Given the description of an element on the screen output the (x, y) to click on. 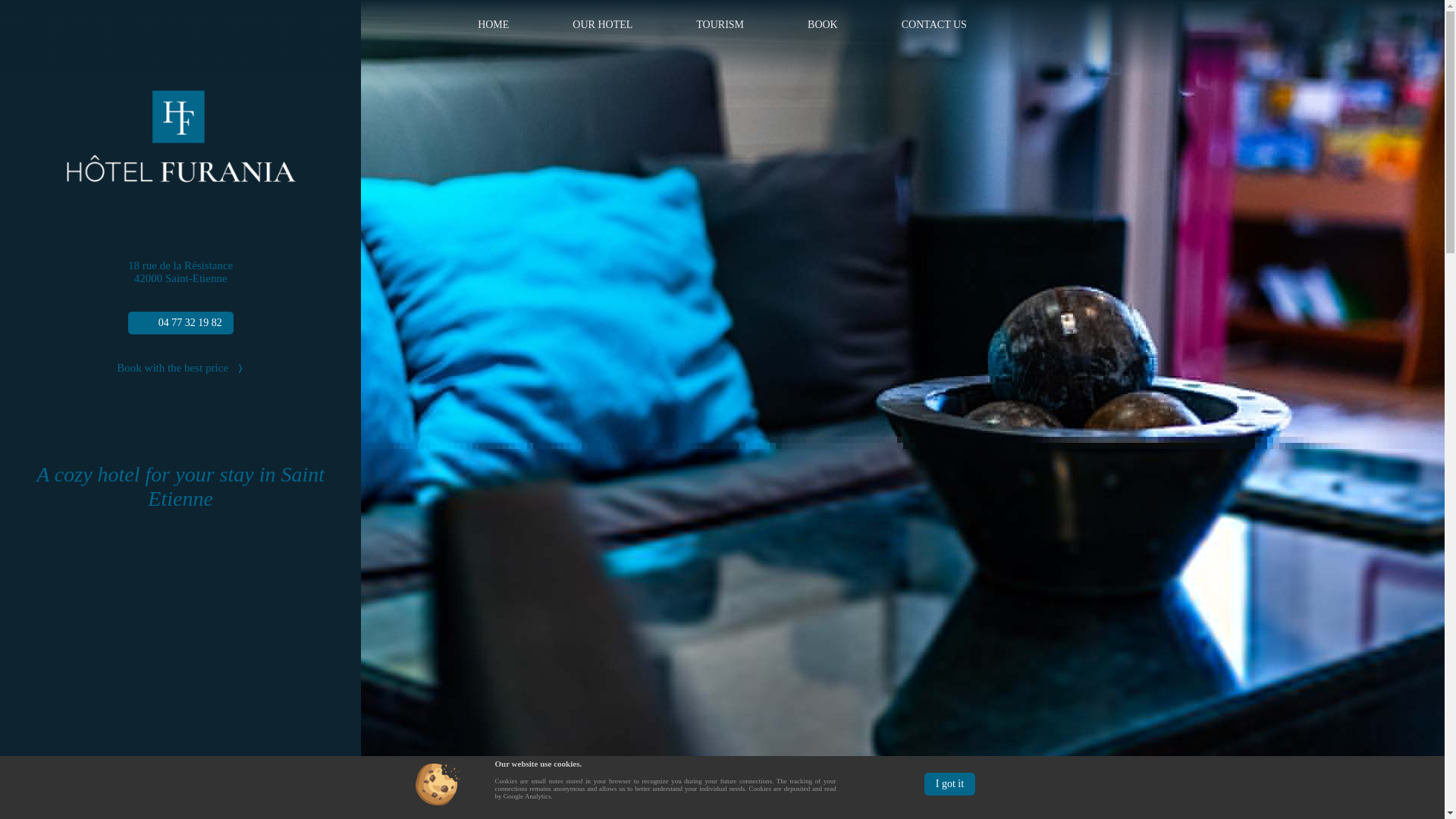
HOME (492, 24)
I got it (949, 784)
04 77 32 19 82 (180, 323)
CONTACT US (933, 24)
BOOK (822, 24)
Tourism in Saint-Etienne (719, 24)
OUR HOTEL (601, 24)
Welcome to Furania Hotel in Saint-Etienne (492, 24)
TOURISM (719, 24)
Our Hotel Furania (601, 24)
